Given the description of an element on the screen output the (x, y) to click on. 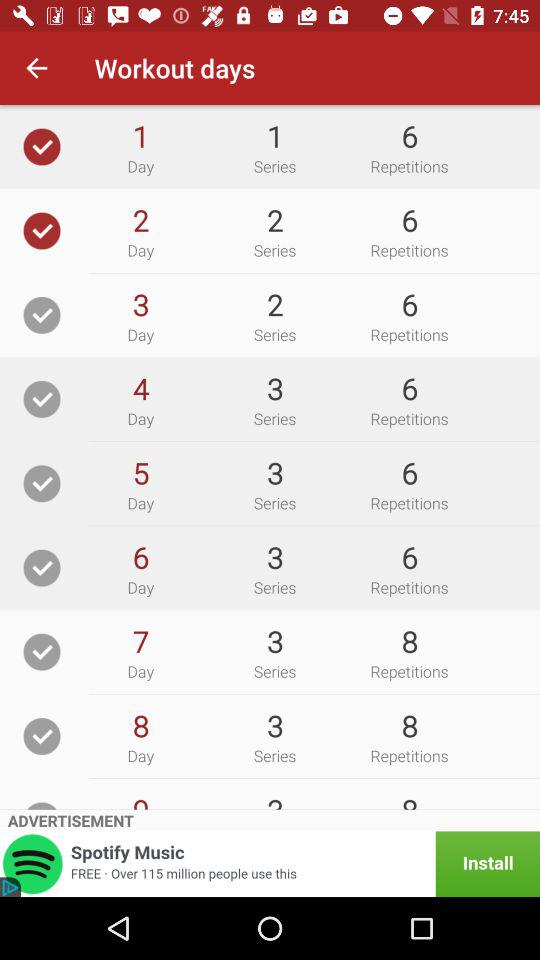
turn off item next to the 3 icon (140, 472)
